Given the description of an element on the screen output the (x, y) to click on. 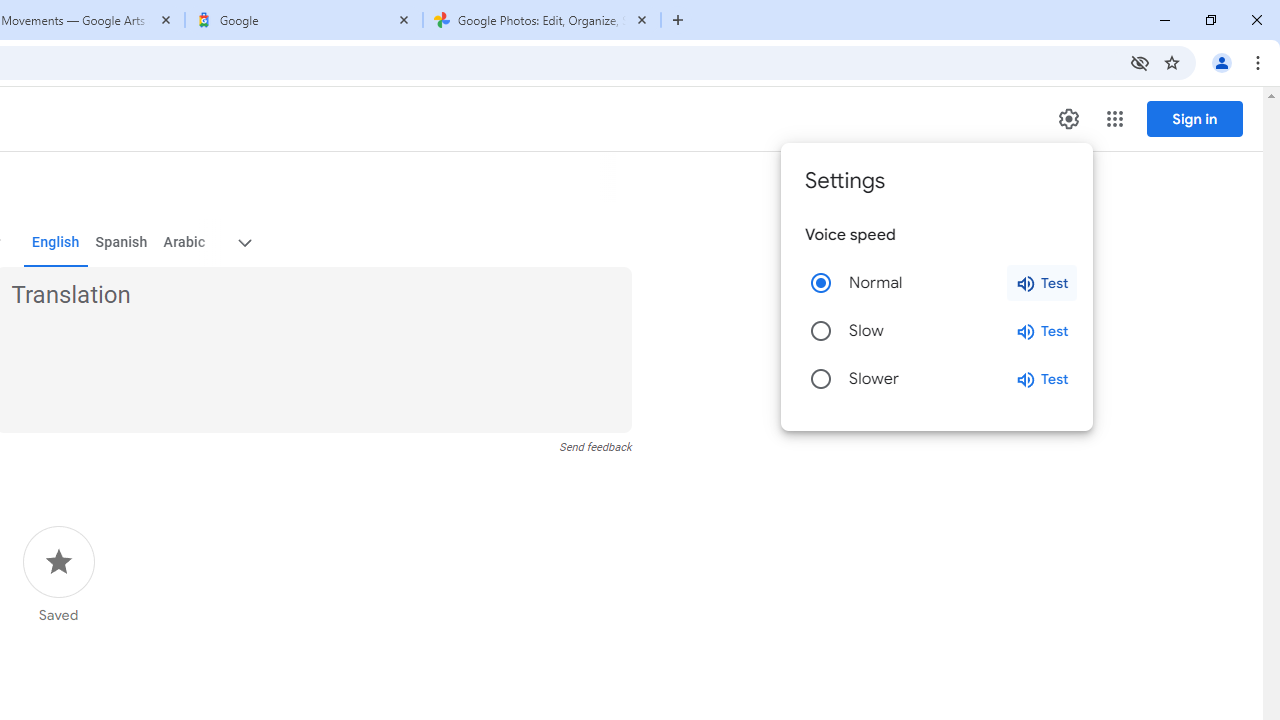
Test slower speed (1041, 378)
Slow (820, 330)
Test slow speed (1041, 331)
Send feedback (595, 447)
Spanish (121, 242)
